Given the description of an element on the screen output the (x, y) to click on. 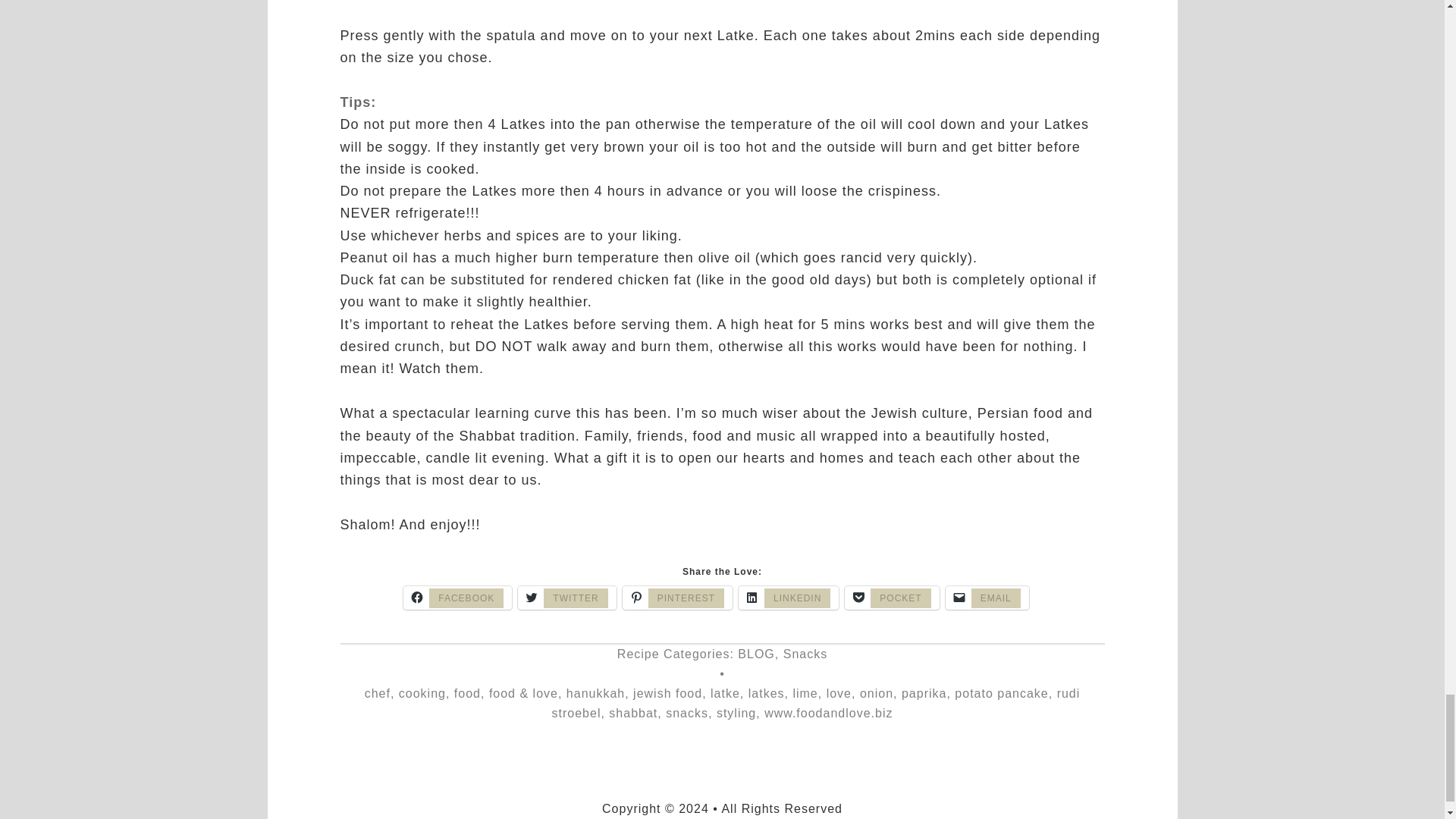
Click to email a link to a friend (986, 597)
paprika (923, 693)
potato pancake (1001, 693)
snacks (686, 712)
POCKET (891, 597)
lime (804, 693)
jewish food (667, 693)
Click to share on Twitter (566, 597)
Click to share on Pocket (891, 597)
LINKEDIN (788, 597)
